Given the description of an element on the screen output the (x, y) to click on. 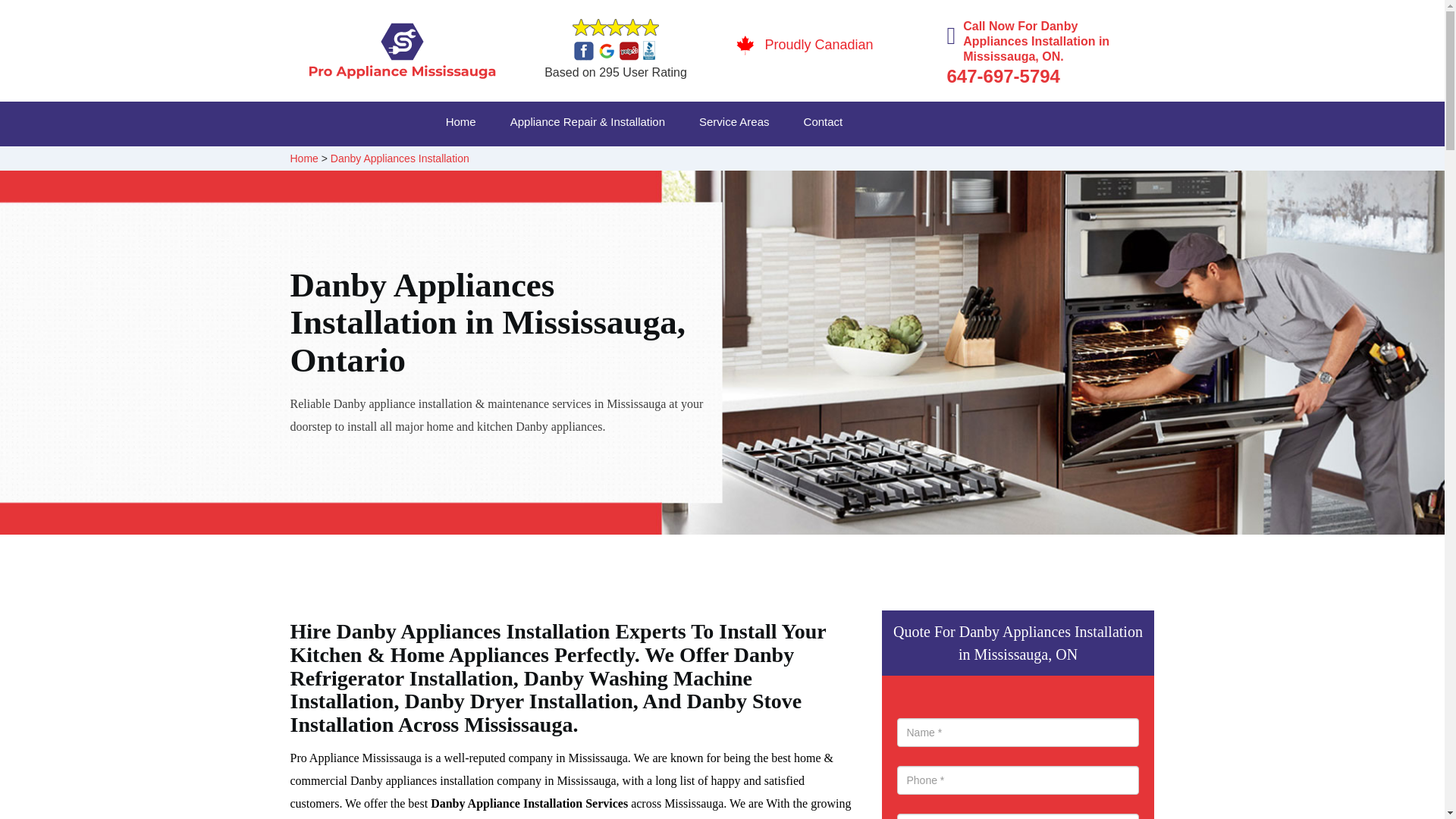
Contact (840, 123)
Freezer Installation (1010, 160)
Home (303, 158)
Microwave Installation (787, 160)
Refrigerator Installation (1025, 160)
Residential Appliance Repair (595, 160)
Gas Stove Repair (783, 160)
Range Installation (1008, 160)
Danby Appliances Installation (399, 158)
Dryer Installation (1011, 160)
Kitchen Appliances Repair (578, 160)
Refrigerator Repair (794, 160)
Stove Installation (996, 160)
Commercial Appliances Installation (827, 160)
Washing Machine Installation (804, 160)
